Given the description of an element on the screen output the (x, y) to click on. 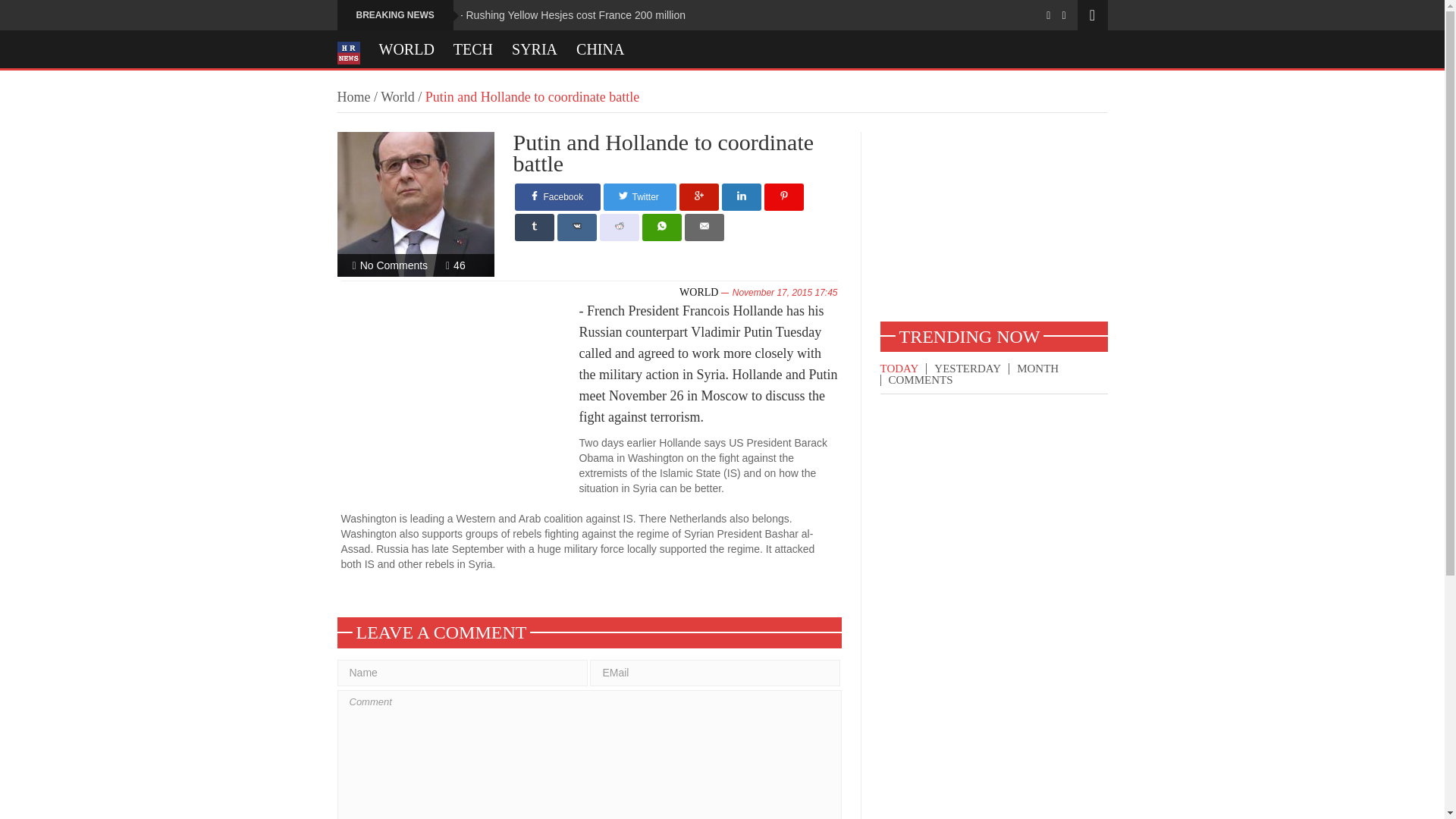
CHINA (600, 48)
No Comments (393, 265)
World (397, 96)
SYRIA (534, 48)
WORLD (405, 48)
Advertisement (459, 400)
Comment on Putin and Hollande to coordinate battle (393, 265)
Advertisement (992, 226)
TECH (472, 48)
WORLD (698, 292)
Home (352, 96)
